Given the description of an element on the screen output the (x, y) to click on. 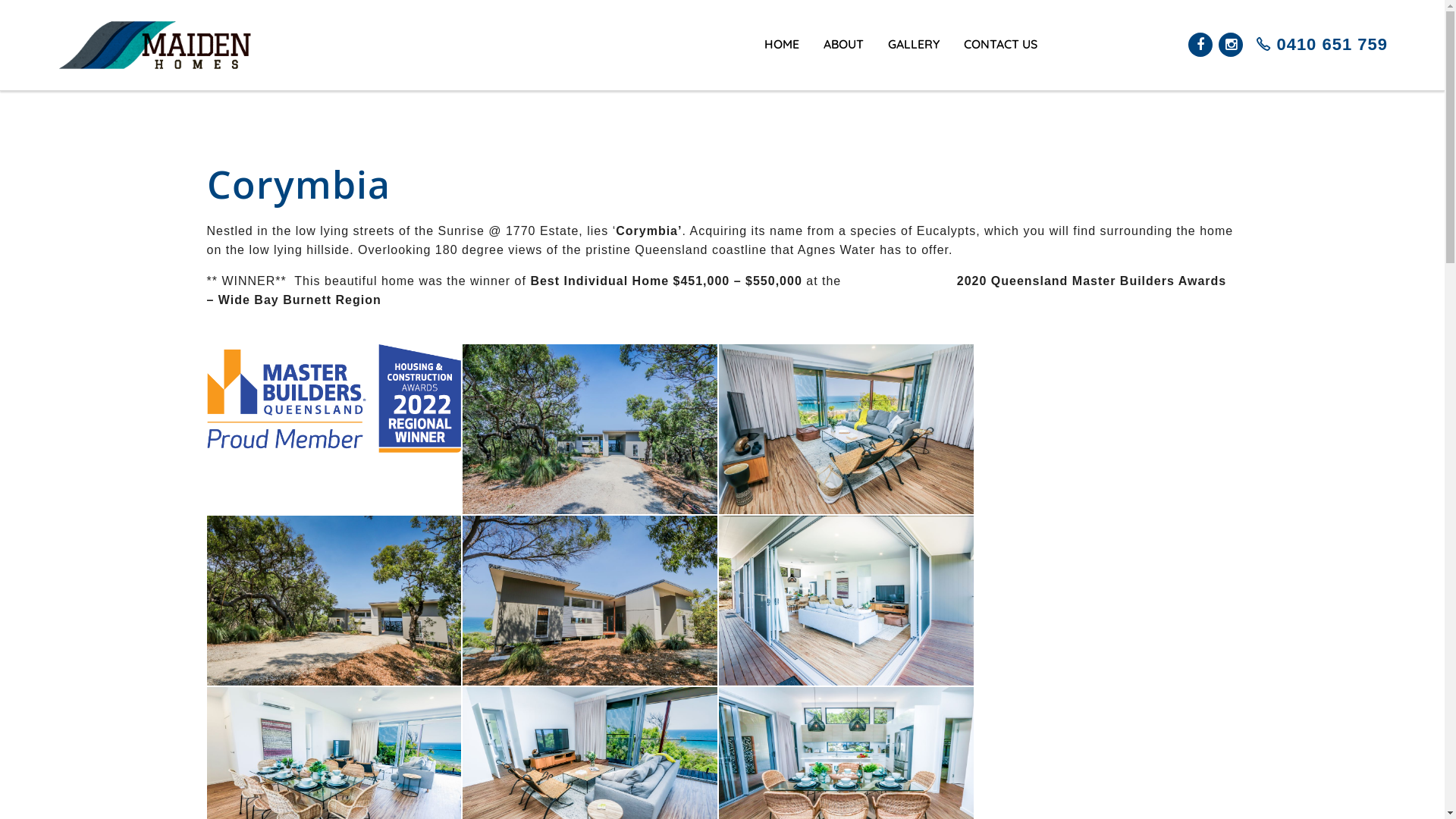
CONTACT US Element type: text (1000, 61)
HOME Element type: text (781, 61)
facebook Element type: hover (1200, 44)
0410 651 759 Element type: text (1317, 44)
GALLERY Element type: text (913, 61)
instagram Element type: hover (1230, 44)
ABOUT Element type: text (843, 61)
